Given the description of an element on the screen output the (x, y) to click on. 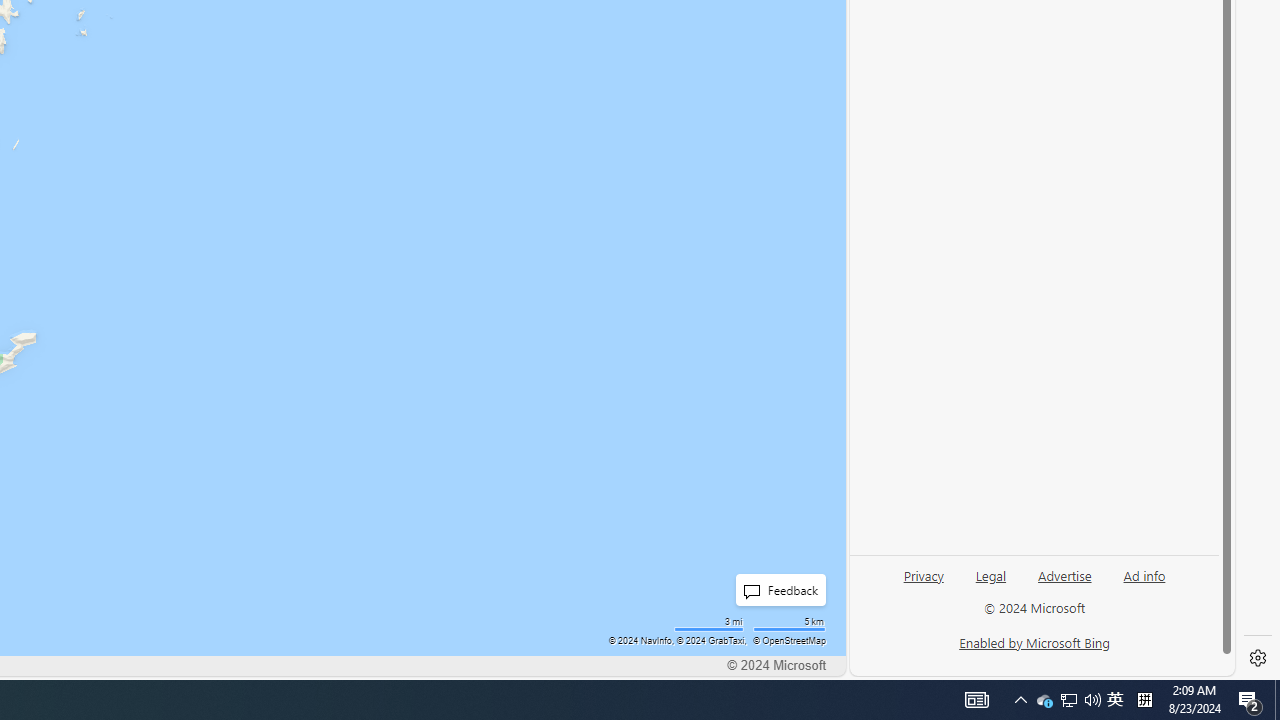
Feedback (779, 589)
Privacy (923, 583)
Ad info (1144, 574)
Legal (991, 574)
Advertise (1064, 583)
Ad info (1144, 583)
Advertise (1064, 574)
Legal (990, 583)
Feedback (775, 589)
Privacy (923, 574)
